Given the description of an element on the screen output the (x, y) to click on. 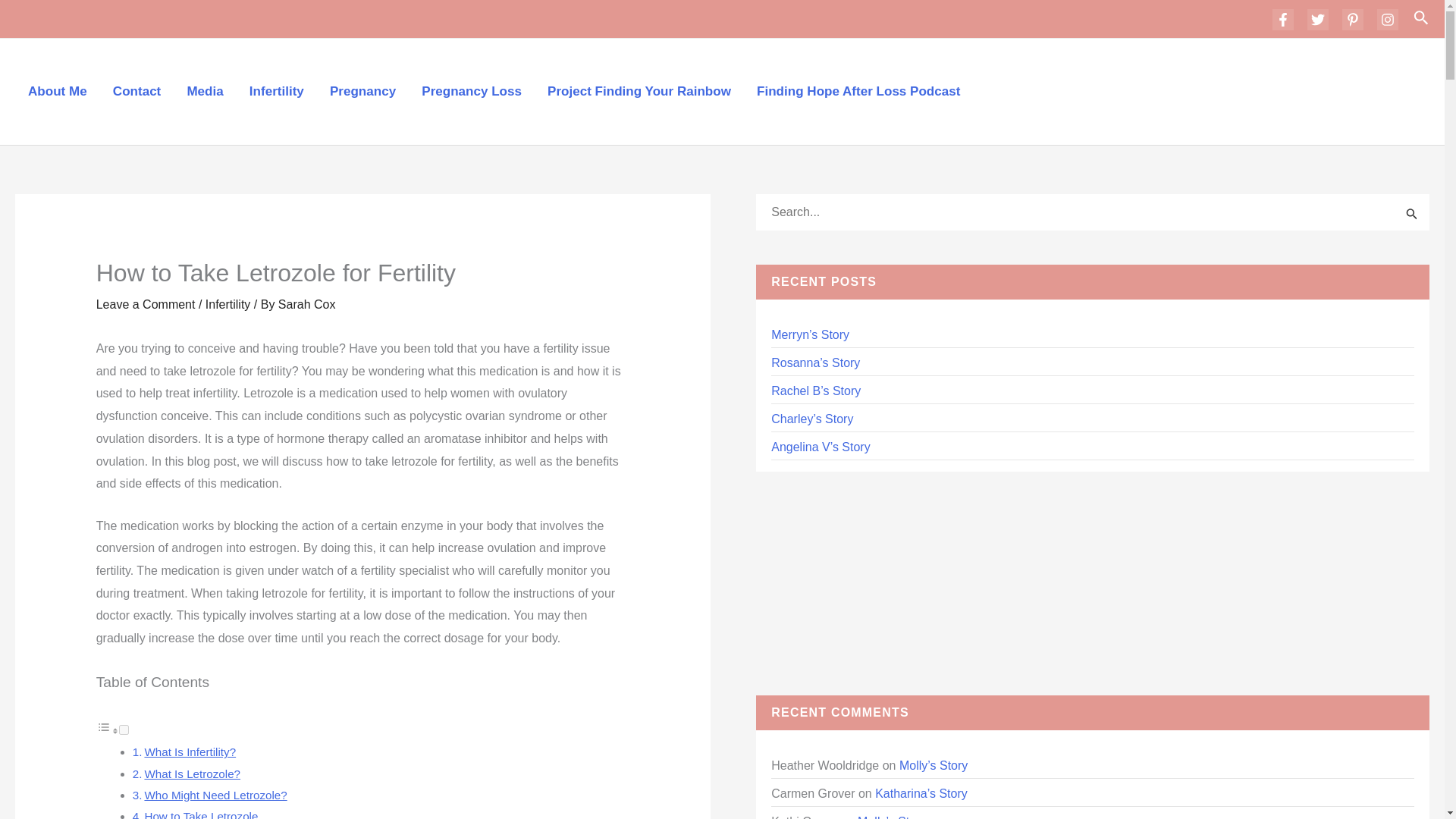
What Is Infertility? (189, 751)
Pregnancy (363, 91)
Infertility (227, 304)
Infertility (276, 91)
About Me (57, 91)
What Is Infertility? (189, 751)
What Is Letrozole? (192, 773)
Who Might Need Letrozole? (215, 794)
What Is Letrozole? (192, 773)
Sarah Cox (307, 304)
How to Take Letrozole (200, 814)
Pregnancy Loss (471, 91)
Finding Hope After Loss Podcast (858, 91)
Project Finding Your Rainbow (639, 91)
How to Take Letrozole (200, 814)
